Given the description of an element on the screen output the (x, y) to click on. 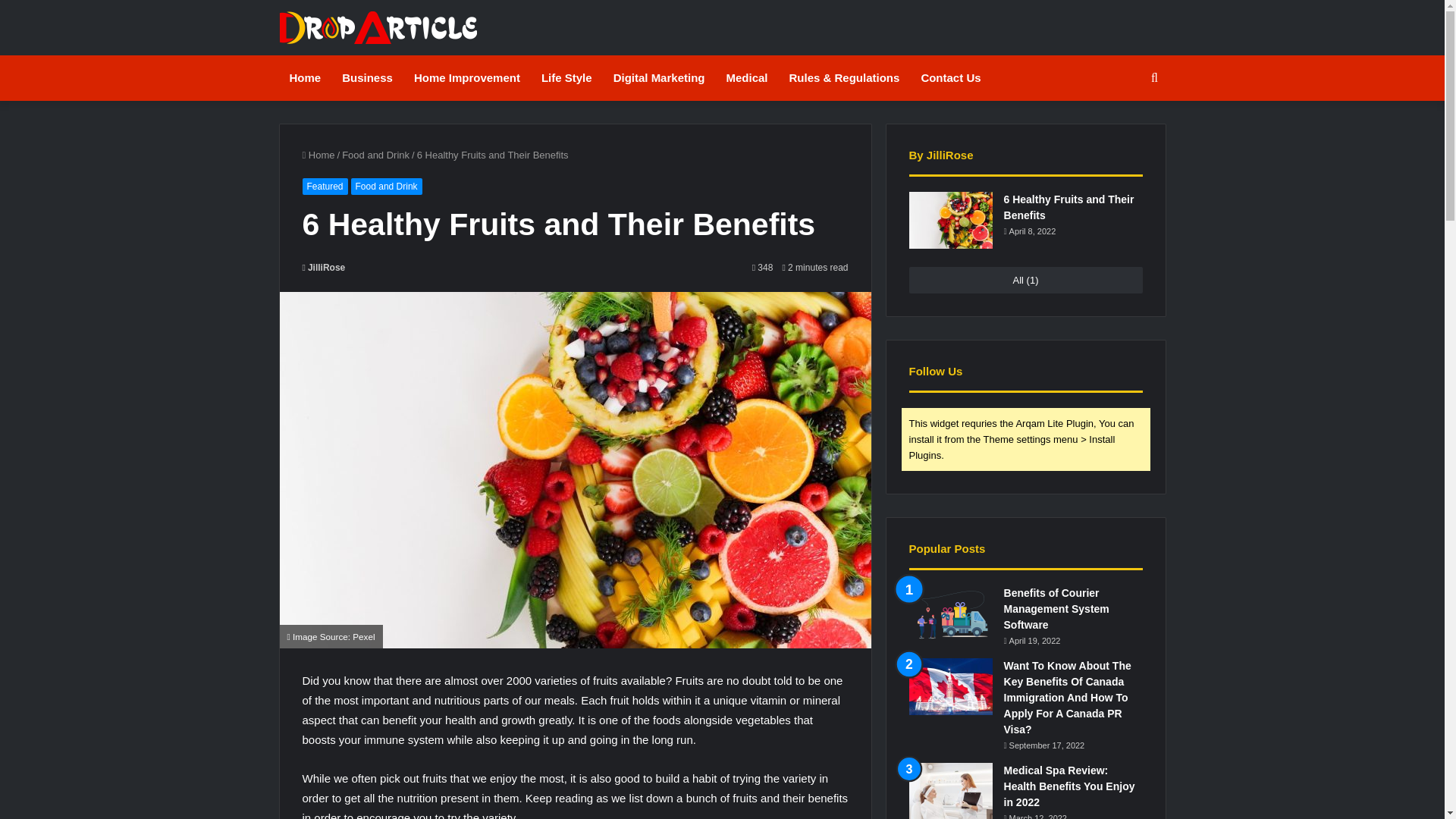
JilliRose (323, 267)
Home Improvement (467, 77)
Food and Drink (386, 186)
Life Style (566, 77)
Drop Article (378, 27)
Home (305, 77)
JilliRose (323, 267)
Food and Drink (375, 154)
Home (317, 154)
Business (367, 77)
